Given the description of an element on the screen output the (x, y) to click on. 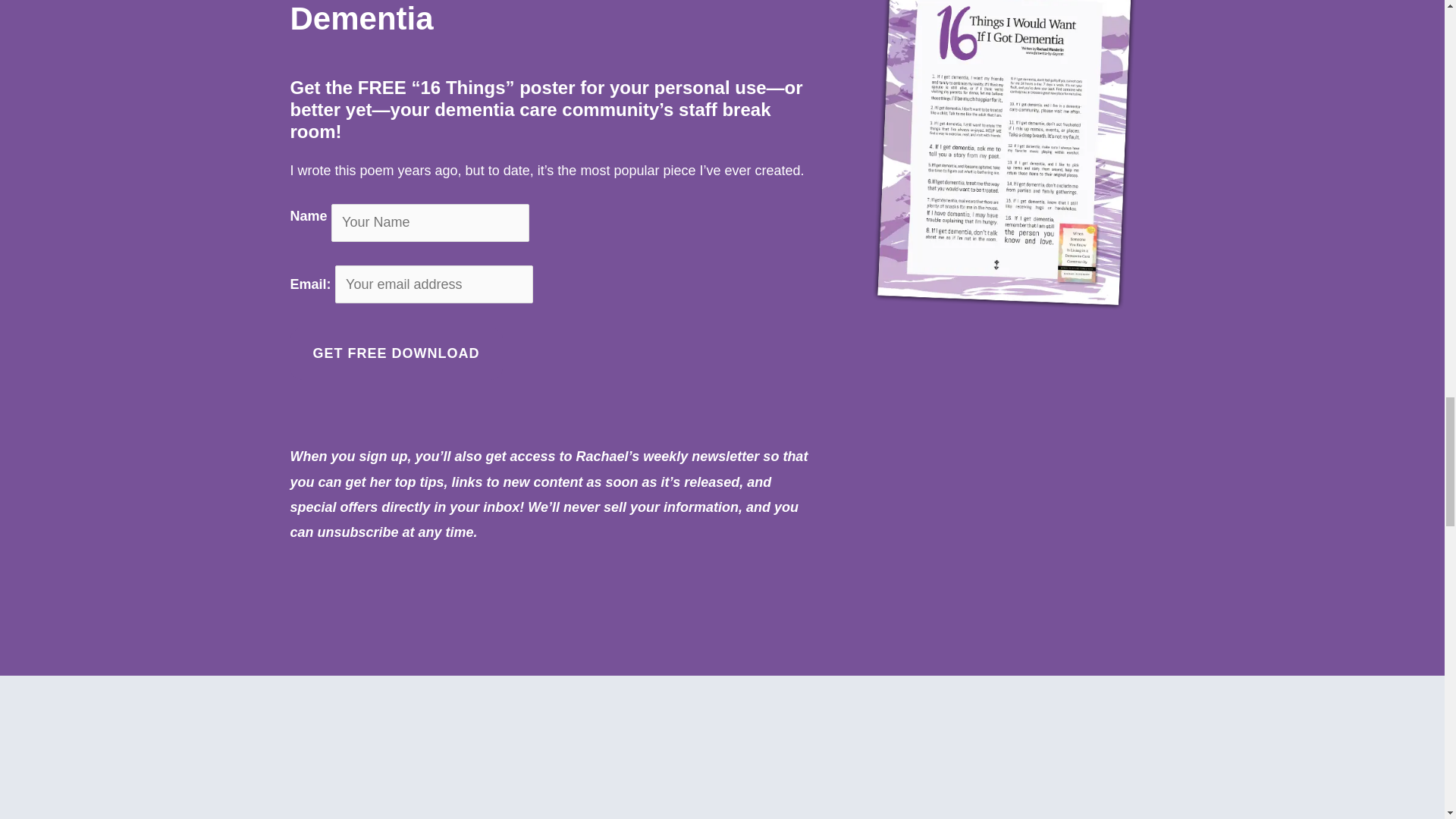
GET FREE DOWNLOAD (395, 353)
